Given the description of an element on the screen output the (x, y) to click on. 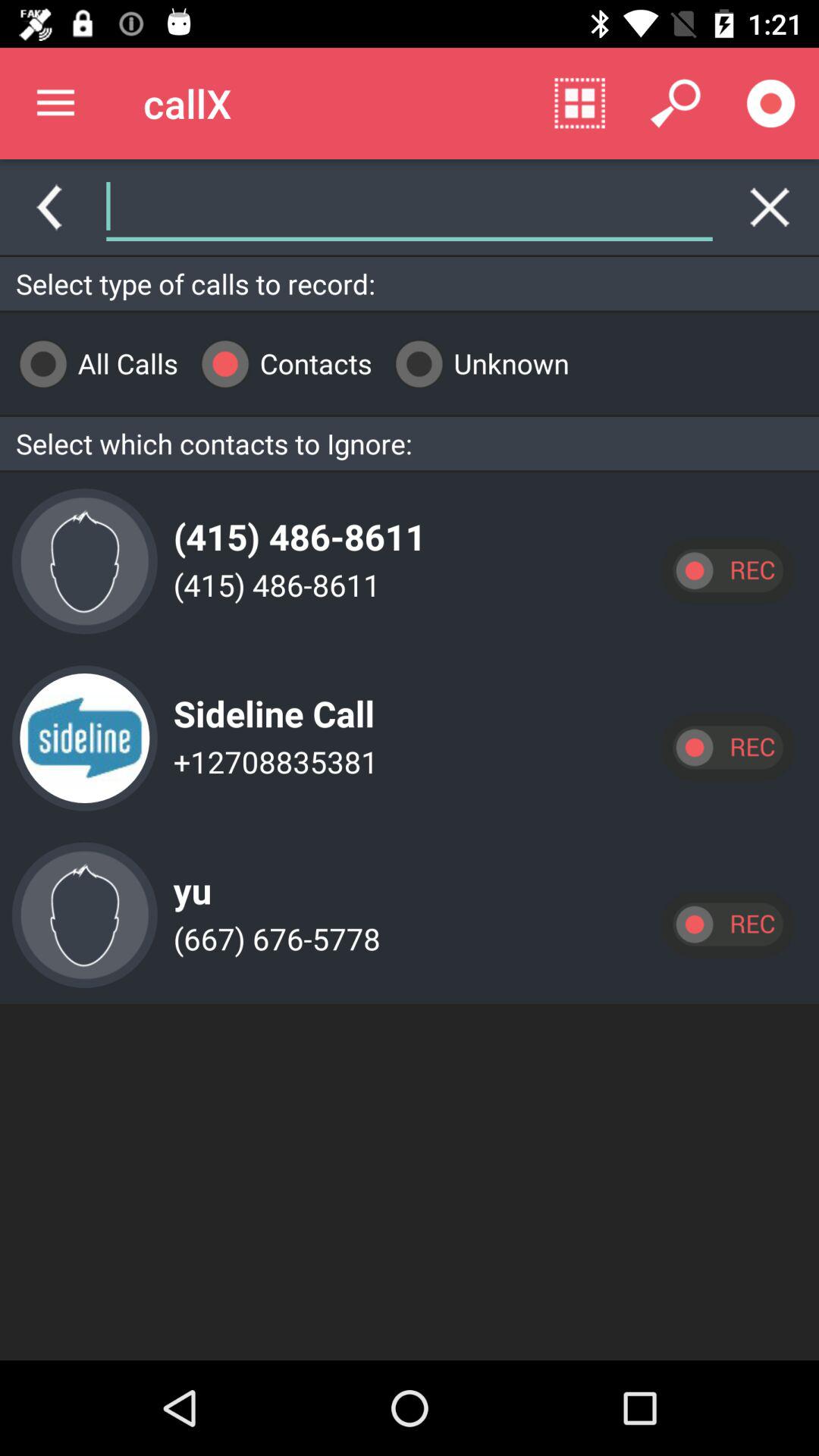
search contacts (409, 206)
